Given the description of an element on the screen output the (x, y) to click on. 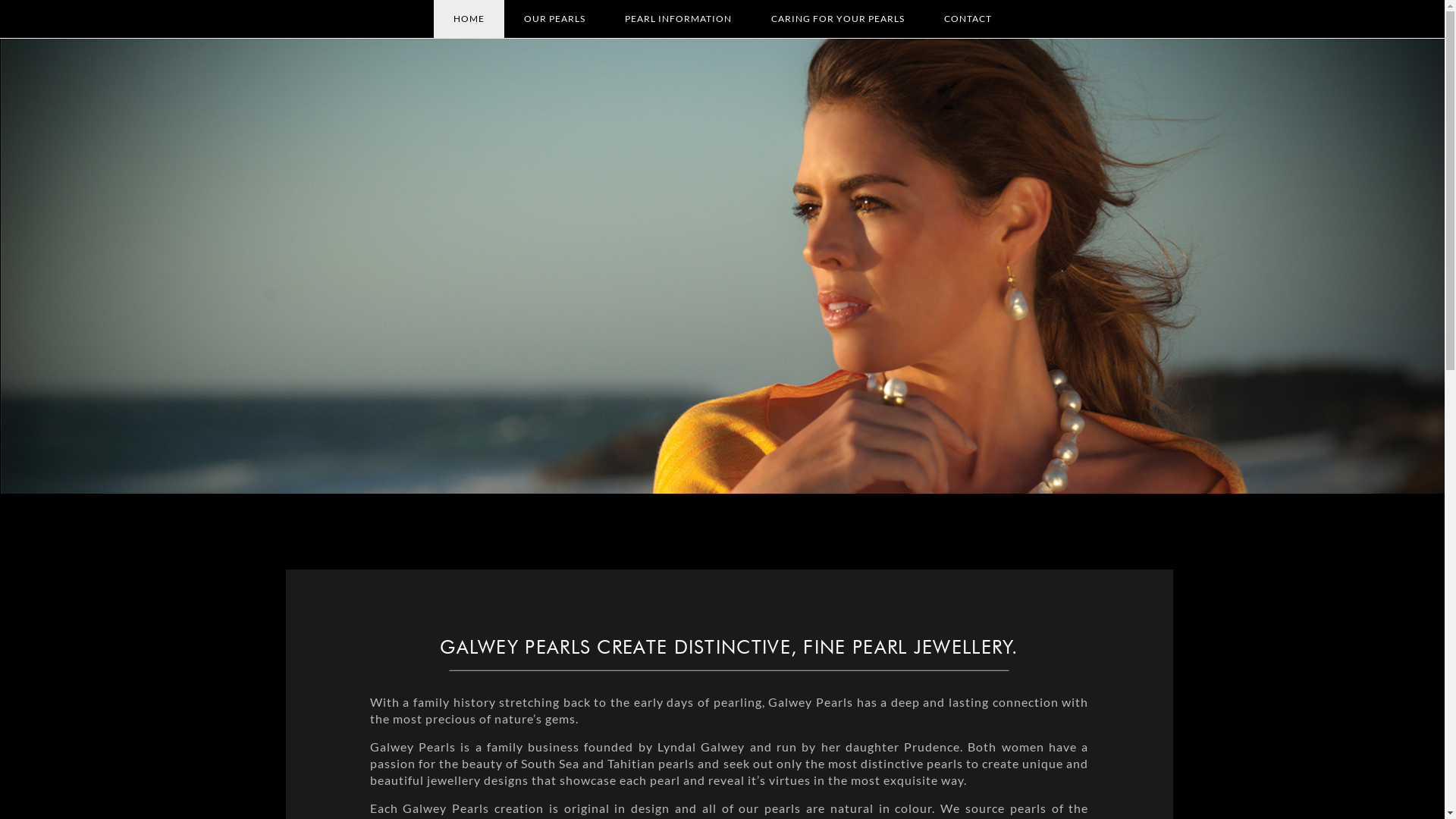
CONTACT Element type: text (967, 18)
HOME Element type: text (467, 18)
CARING FOR YOUR PEARLS Element type: text (837, 18)
OUR PEARLS Element type: text (554, 18)
PEARL INFORMATION Element type: text (677, 18)
